Given the description of an element on the screen output the (x, y) to click on. 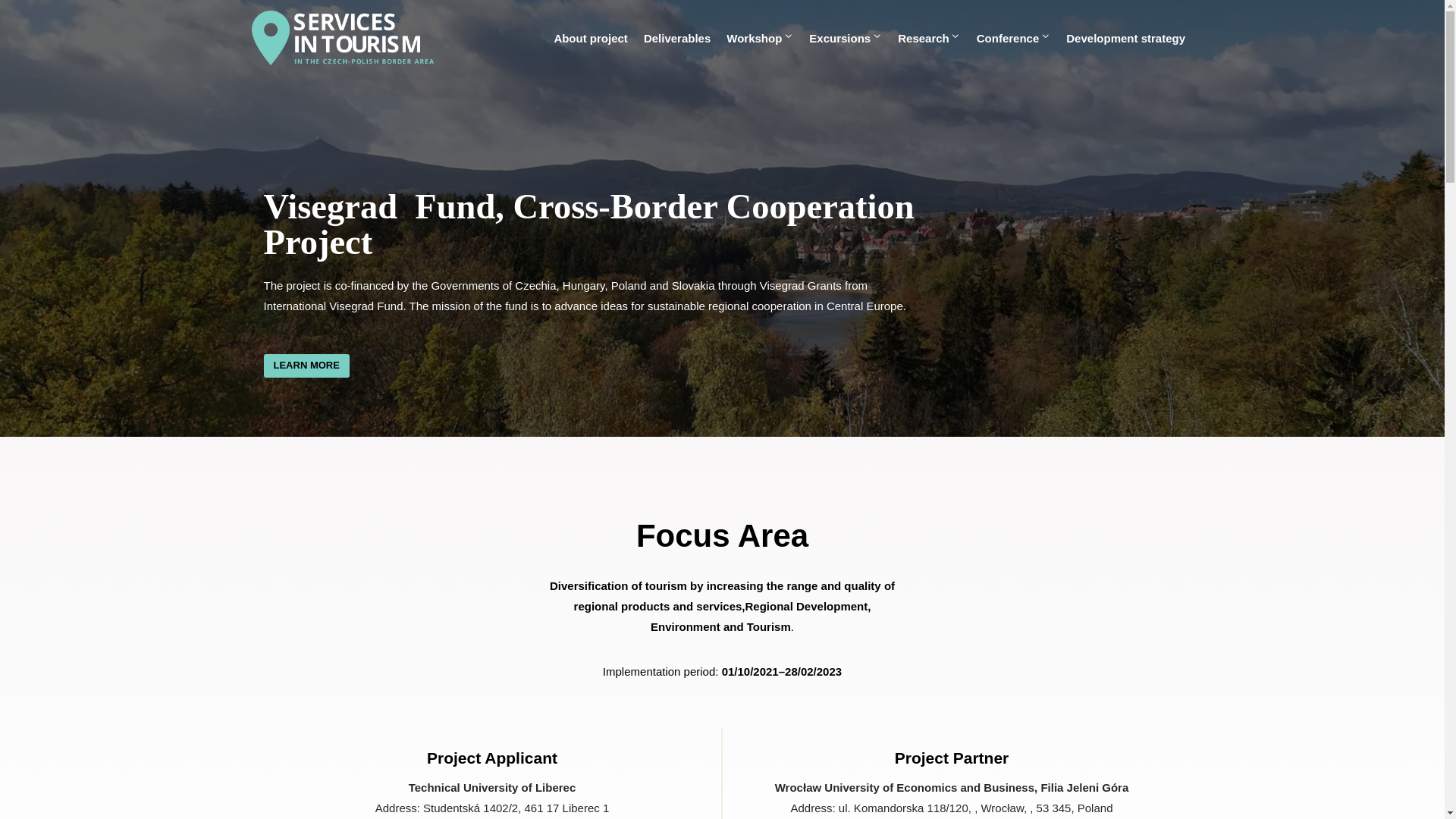
Conference (1013, 38)
About project (591, 38)
LEARN MORE (306, 365)
Workshop (760, 38)
Development strategy (1125, 38)
Research (929, 38)
Deliverables (675, 38)
Excursions (845, 38)
